Given the description of an element on the screen output the (x, y) to click on. 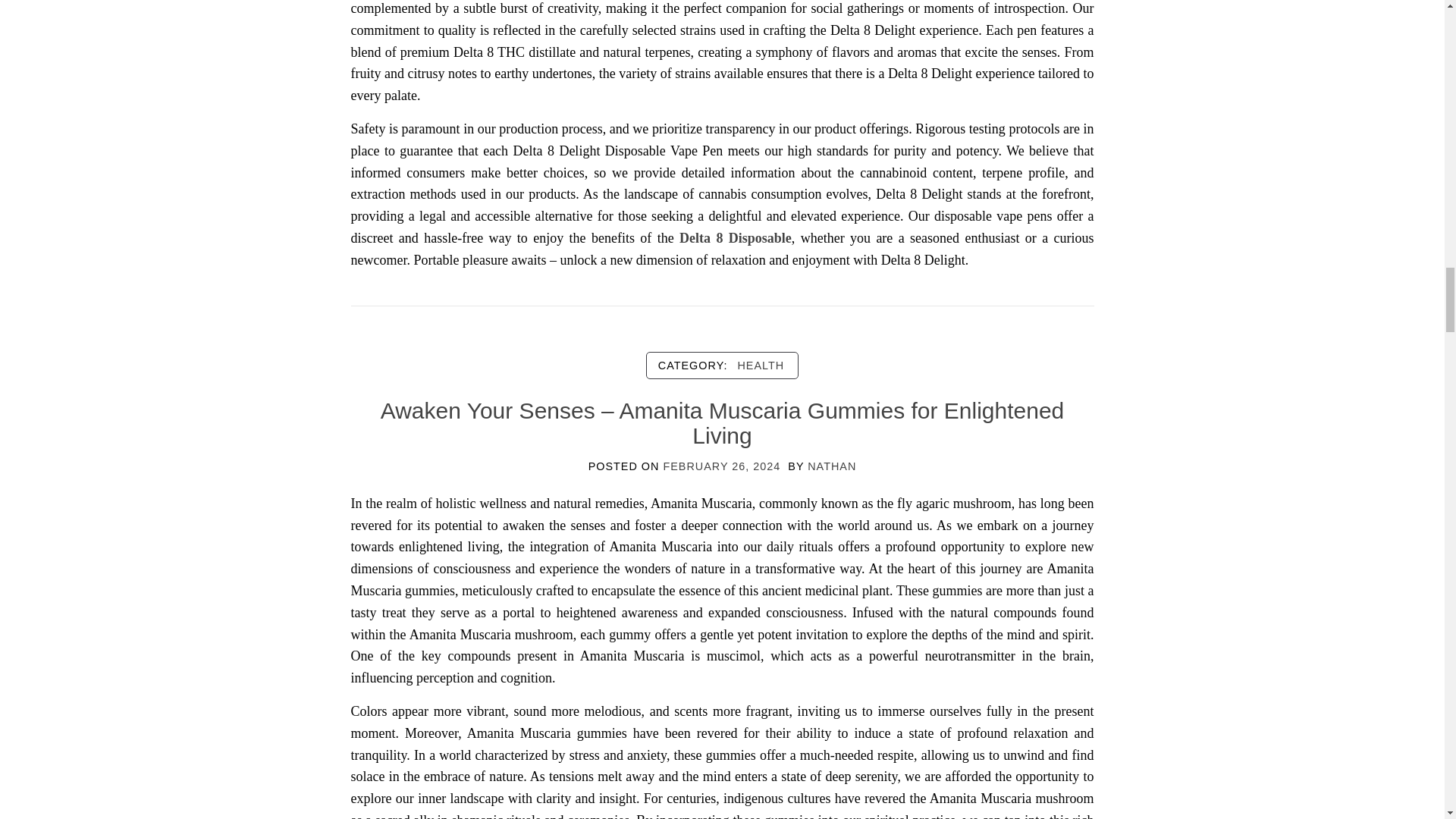
HEALTH (760, 364)
Delta 8 Disposable (735, 237)
NATHAN (832, 466)
FEBRUARY 26, 2024 (721, 466)
